Given the description of an element on the screen output the (x, y) to click on. 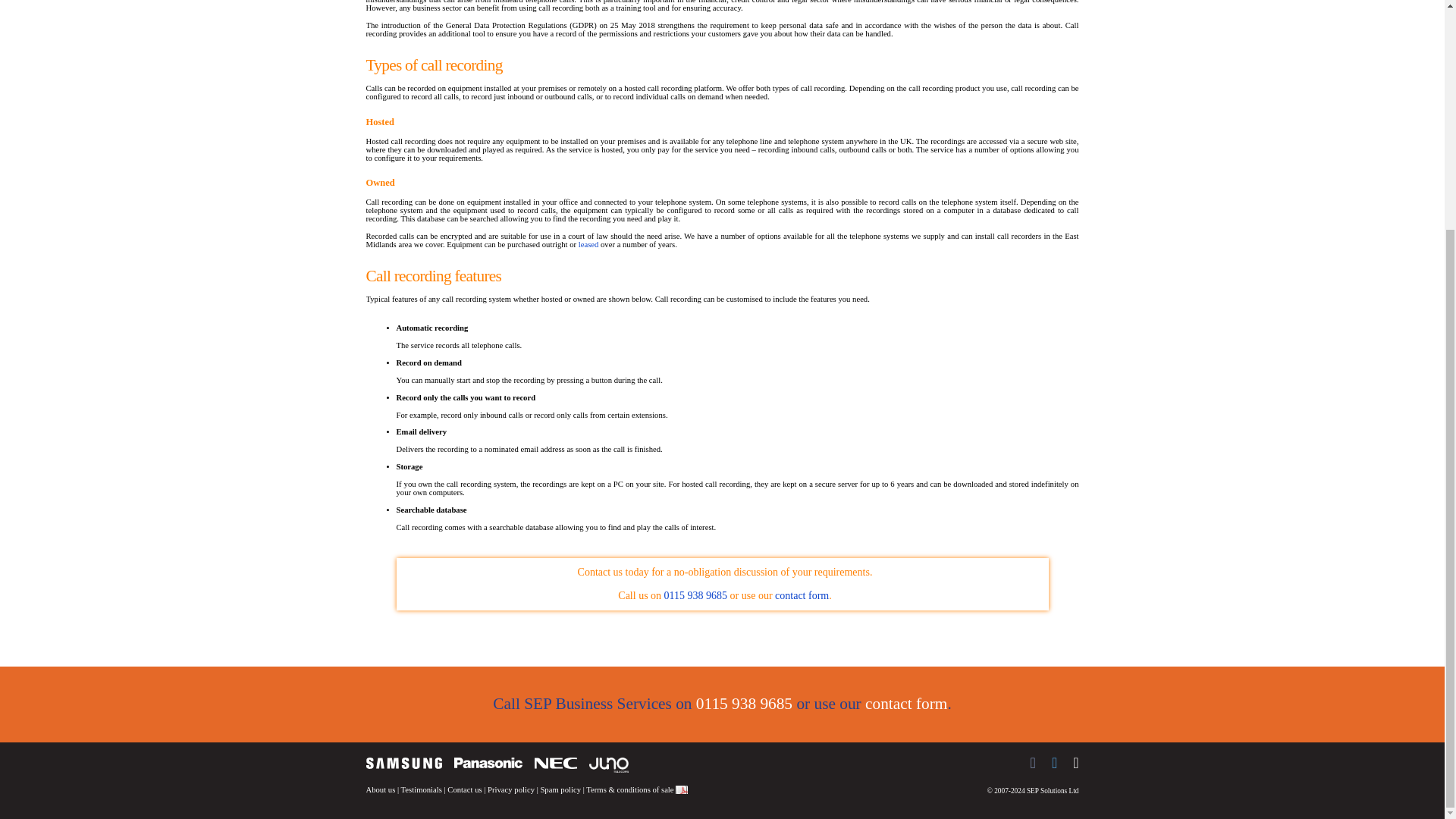
Samsung telephone systems (403, 763)
Contact us (463, 789)
Panasonic telephone systems (486, 763)
NEC telephone systems (555, 763)
contact form (905, 703)
Spam policy (560, 789)
Testimonials (421, 789)
About us (379, 789)
contact form (801, 595)
Privacy policy (510, 789)
0115 938 9685 (743, 703)
leased (588, 244)
0115 938 9685 (694, 595)
Juno Telecoms (607, 765)
